Given the description of an element on the screen output the (x, y) to click on. 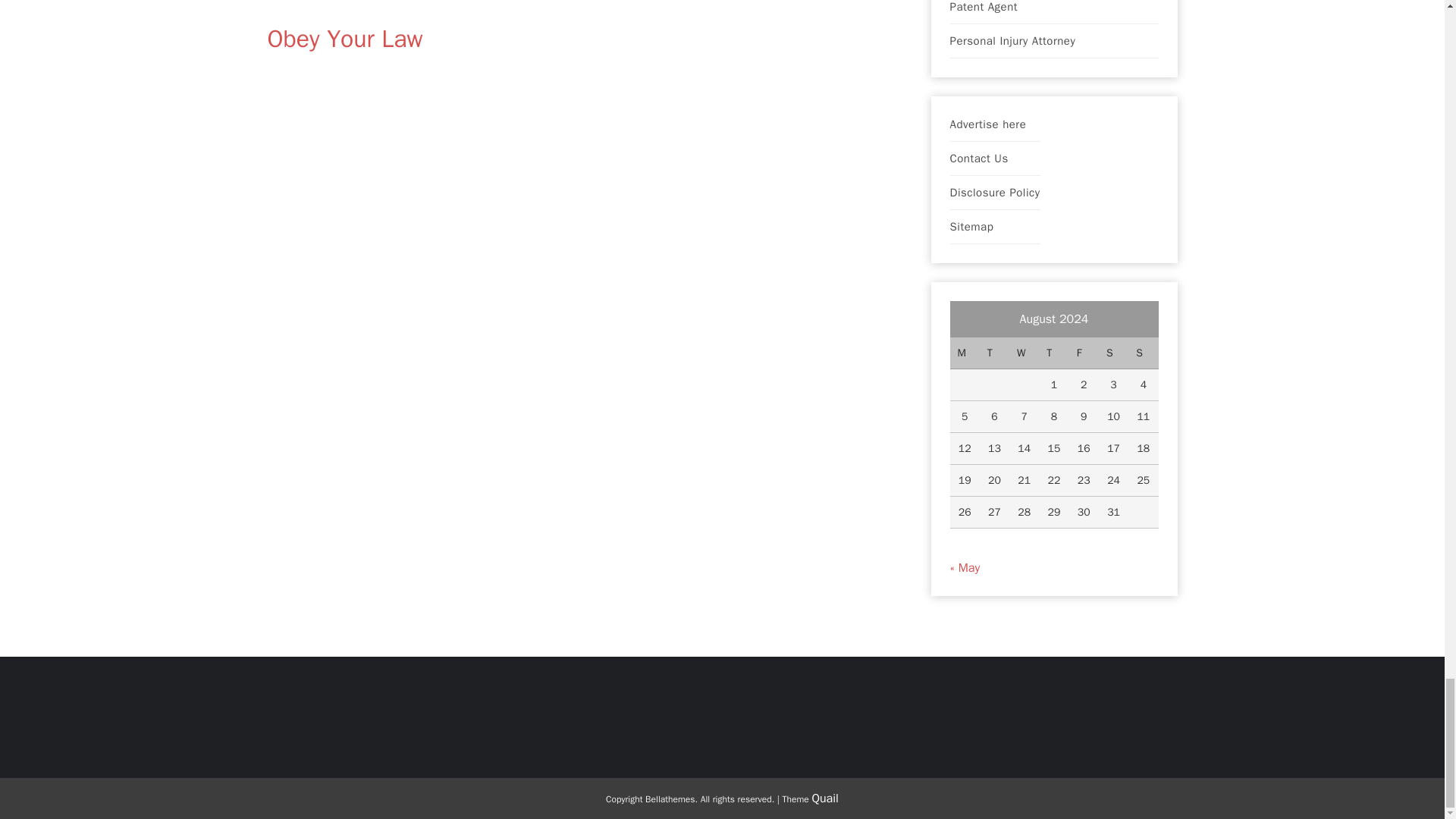
Saturday (1113, 353)
Wednesday (1024, 353)
Sunday (1142, 353)
Friday (1083, 353)
Monday (963, 353)
Tuesday (994, 353)
Thursday (1053, 353)
